Given the description of an element on the screen output the (x, y) to click on. 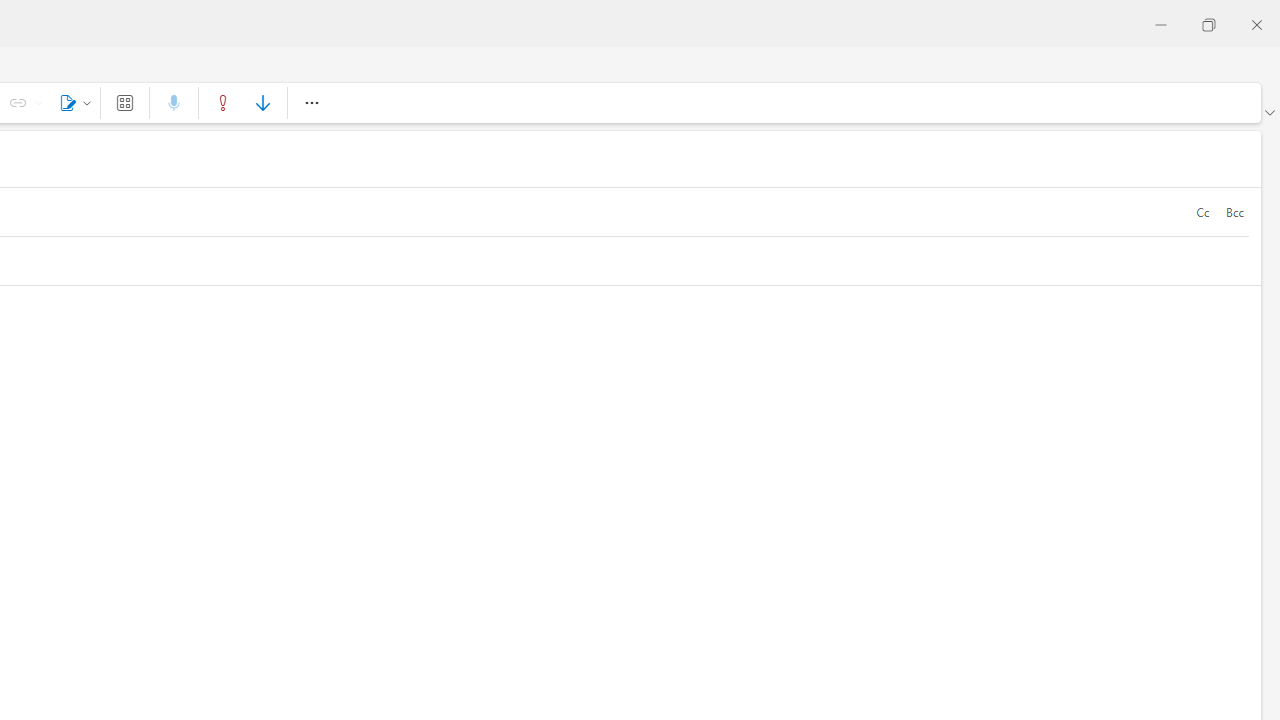
Signature (71, 102)
Link (38, 102)
Ribbon display options (1269, 112)
Bcc (1234, 211)
Cc (1202, 211)
High importance (223, 102)
Low importance (262, 102)
Apps (124, 102)
Dictate (173, 102)
